Given the description of an element on the screen output the (x, y) to click on. 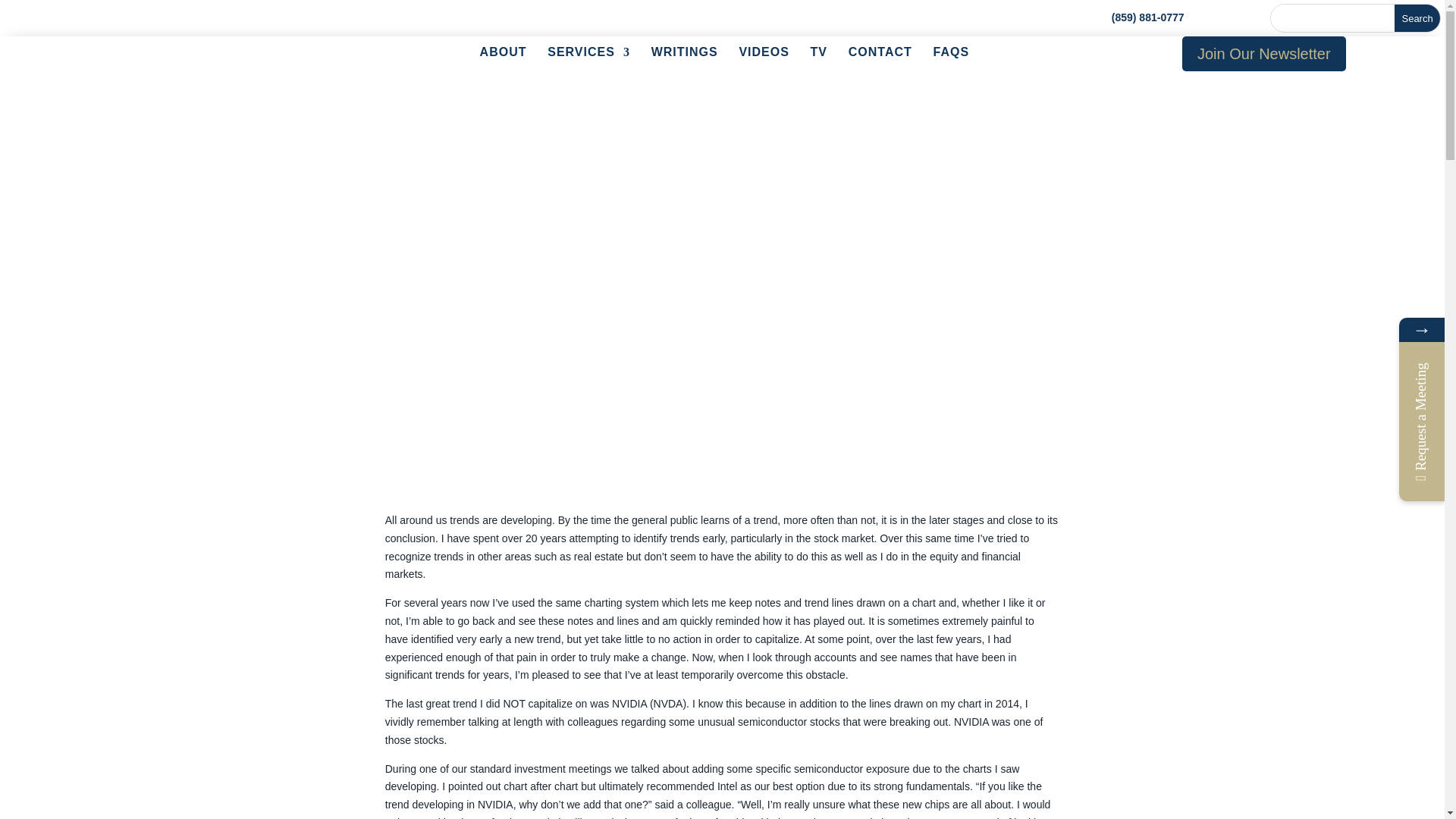
Search (1416, 17)
SERVICES (588, 54)
WRITINGS (683, 54)
TV (818, 54)
VIDEOS (763, 54)
ABOUT (503, 54)
Search (1416, 17)
Search (1416, 17)
Join Our Newsletter (1263, 53)
FAQS (951, 54)
CONTACT (880, 54)
